Given the description of an element on the screen output the (x, y) to click on. 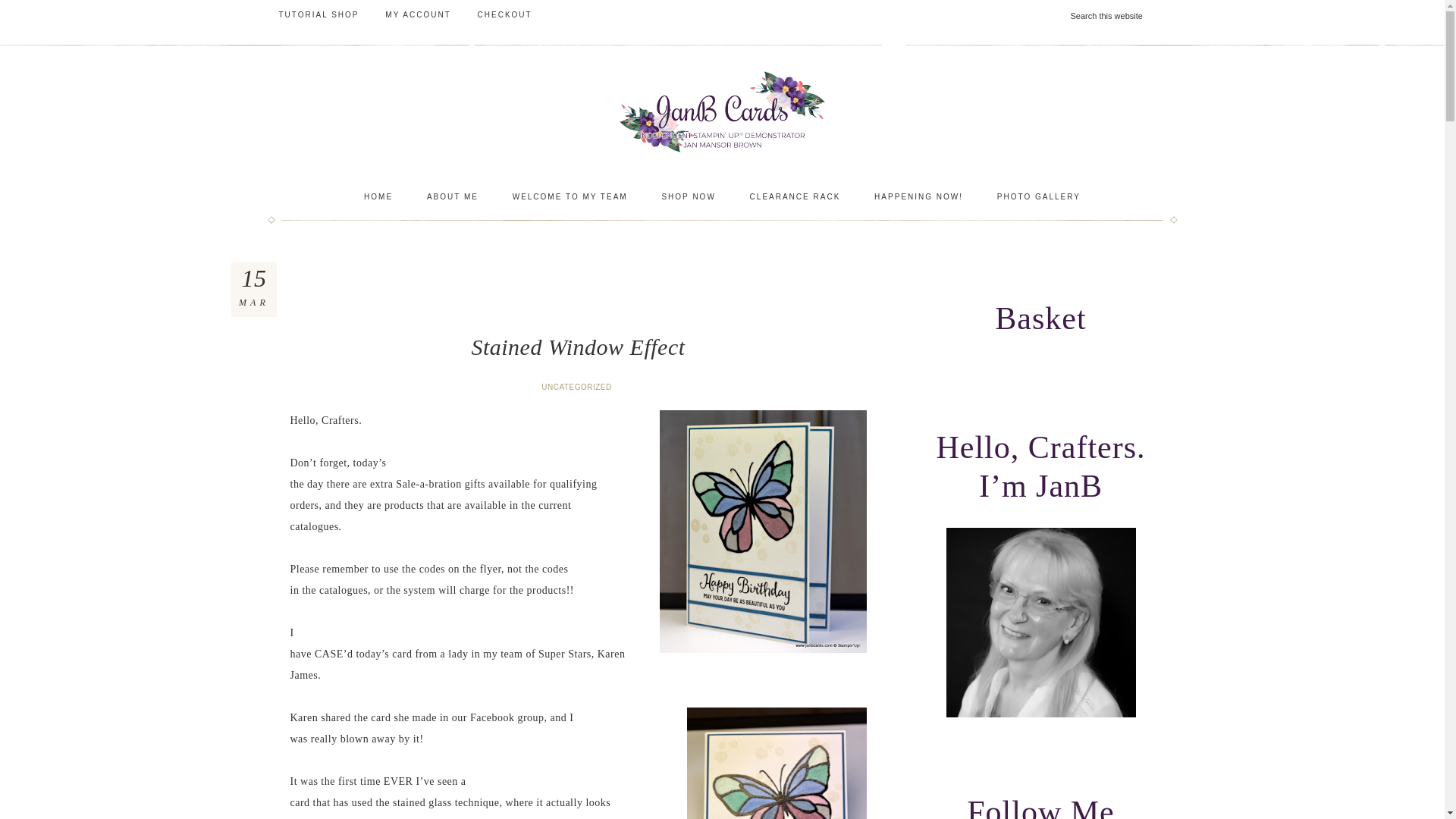
SHOP NOW (688, 197)
CLEARANCE RACK (795, 197)
ABOUT ME (452, 197)
HOME (378, 197)
PHOTO GALLERY (1038, 197)
HAPPENING NOW! (918, 197)
TUTORIAL SHOP (317, 15)
WELCOME TO MY TEAM (570, 197)
JANB CARDS (721, 111)
CHECKOUT (504, 15)
